Given the description of an element on the screen output the (x, y) to click on. 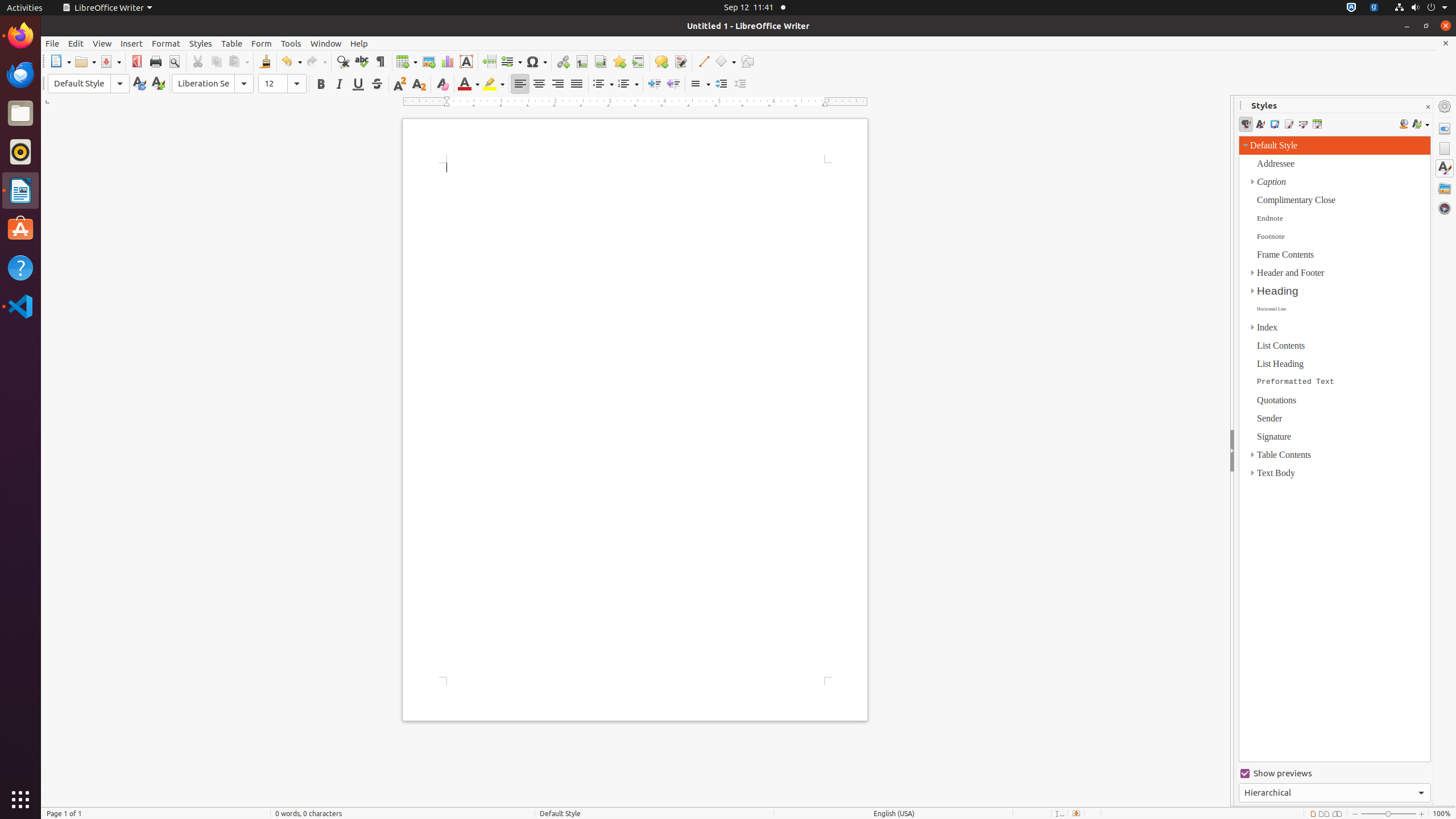
Window Element type: menu (325, 43)
Table Styles Element type: push-button (1316, 123)
Styles actions Element type: push-button (1420, 123)
Clone Element type: push-button (264, 61)
Untitled 1 - LibreOffice Document Element type: document-text (635, 457)
